Given the description of an element on the screen output the (x, y) to click on. 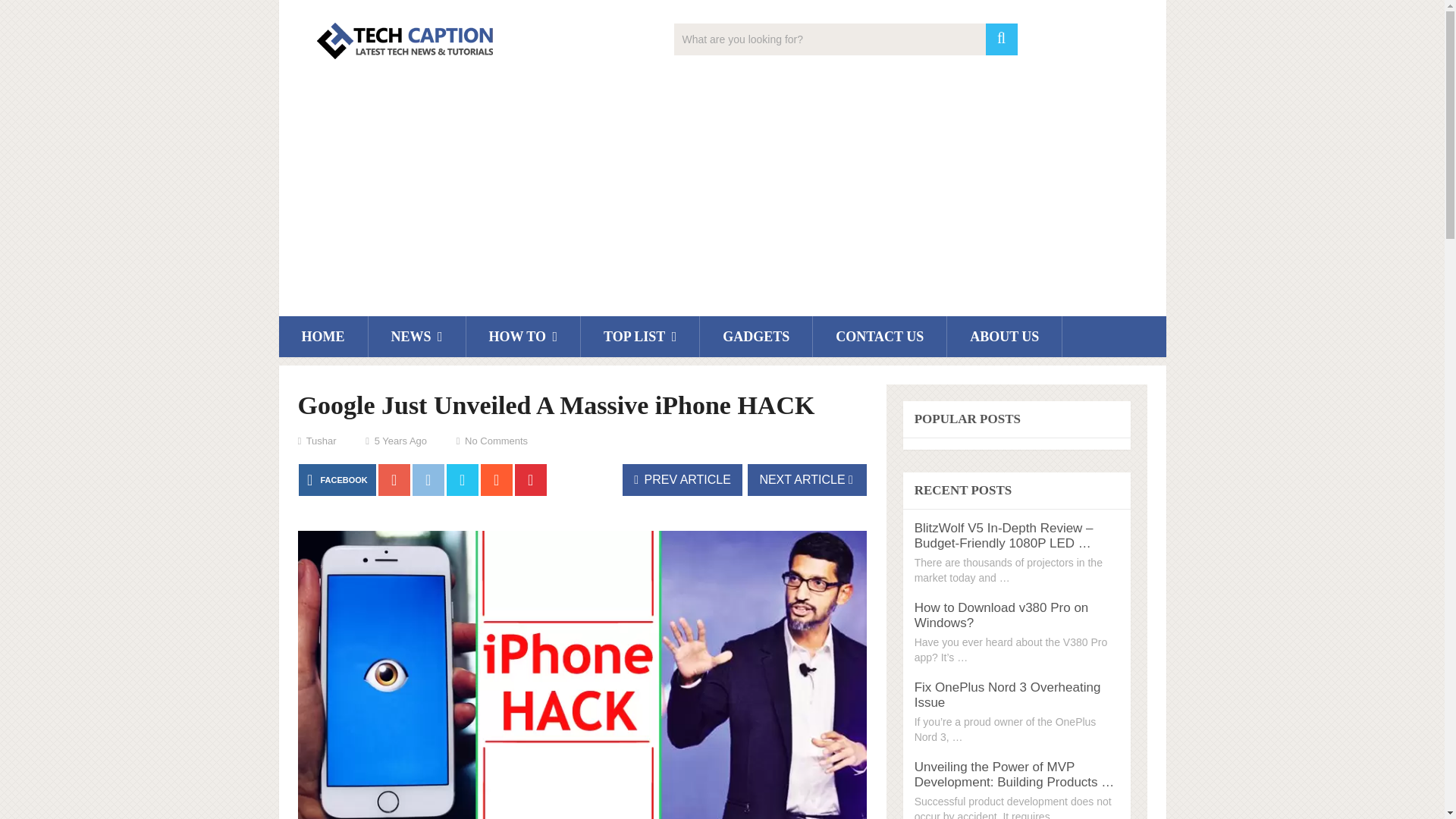
TOP LIST (639, 336)
HOME (323, 336)
Posts by Tushar (320, 440)
ABOUT US (1004, 336)
HOW TO (522, 336)
GADGETS (756, 336)
NEWS (416, 336)
CONTACT US (879, 336)
How to Download v380 Pro on Windows? (1001, 614)
